Given the description of an element on the screen output the (x, y) to click on. 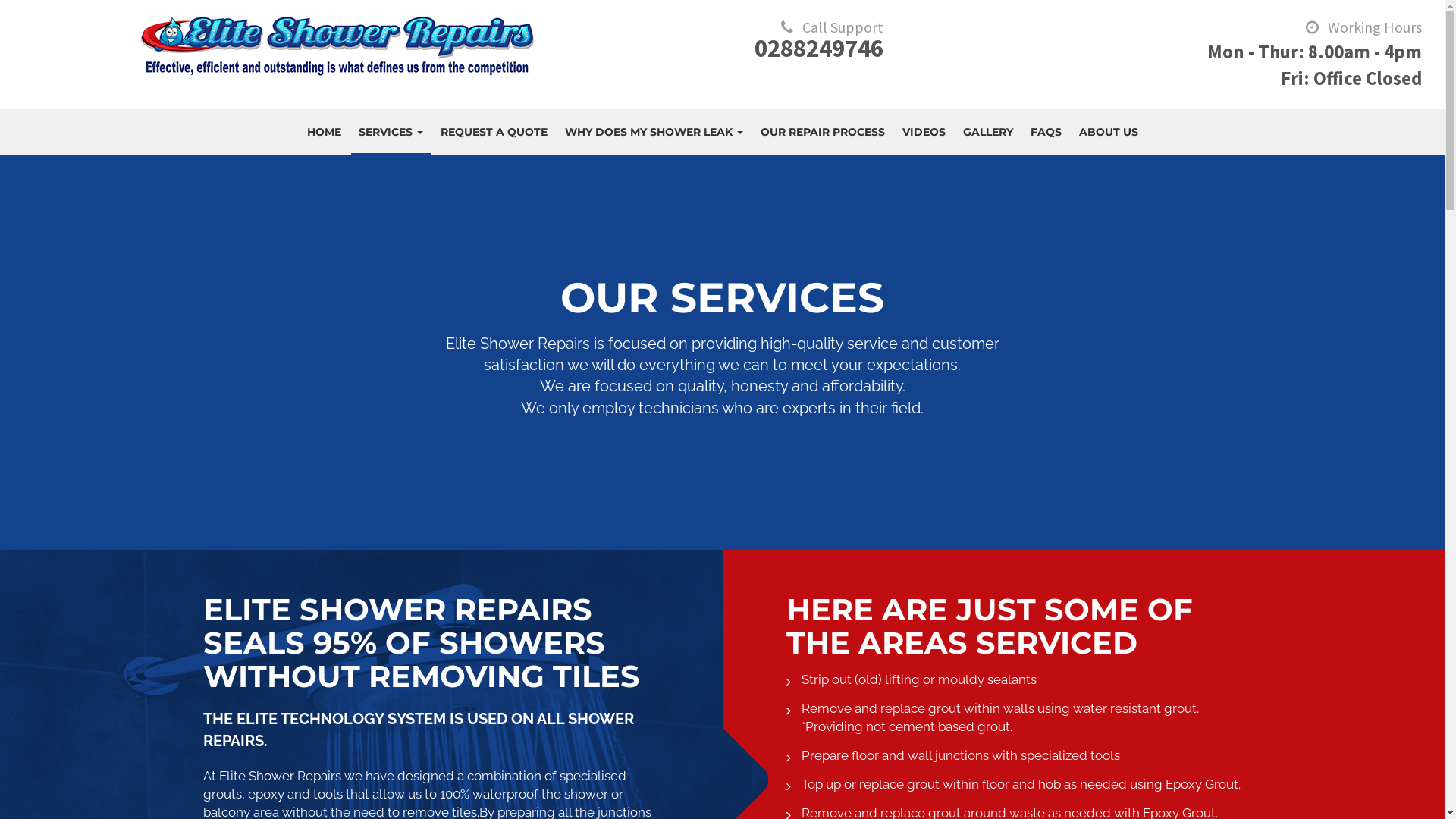
SERVICES Element type: text (389, 132)
GALLERY Element type: text (987, 132)
REQUEST A QUOTE Element type: text (493, 132)
0288249746 Element type: text (818, 47)
OUR REPAIR PROCESS Element type: text (821, 132)
ABOUT US Element type: text (1107, 132)
HOME Element type: text (323, 132)
FAQS Element type: text (1045, 132)
VIDEOS Element type: text (923, 132)
WHY DOES MY SHOWER LEAK Element type: text (652, 132)
